Given the description of an element on the screen output the (x, y) to click on. 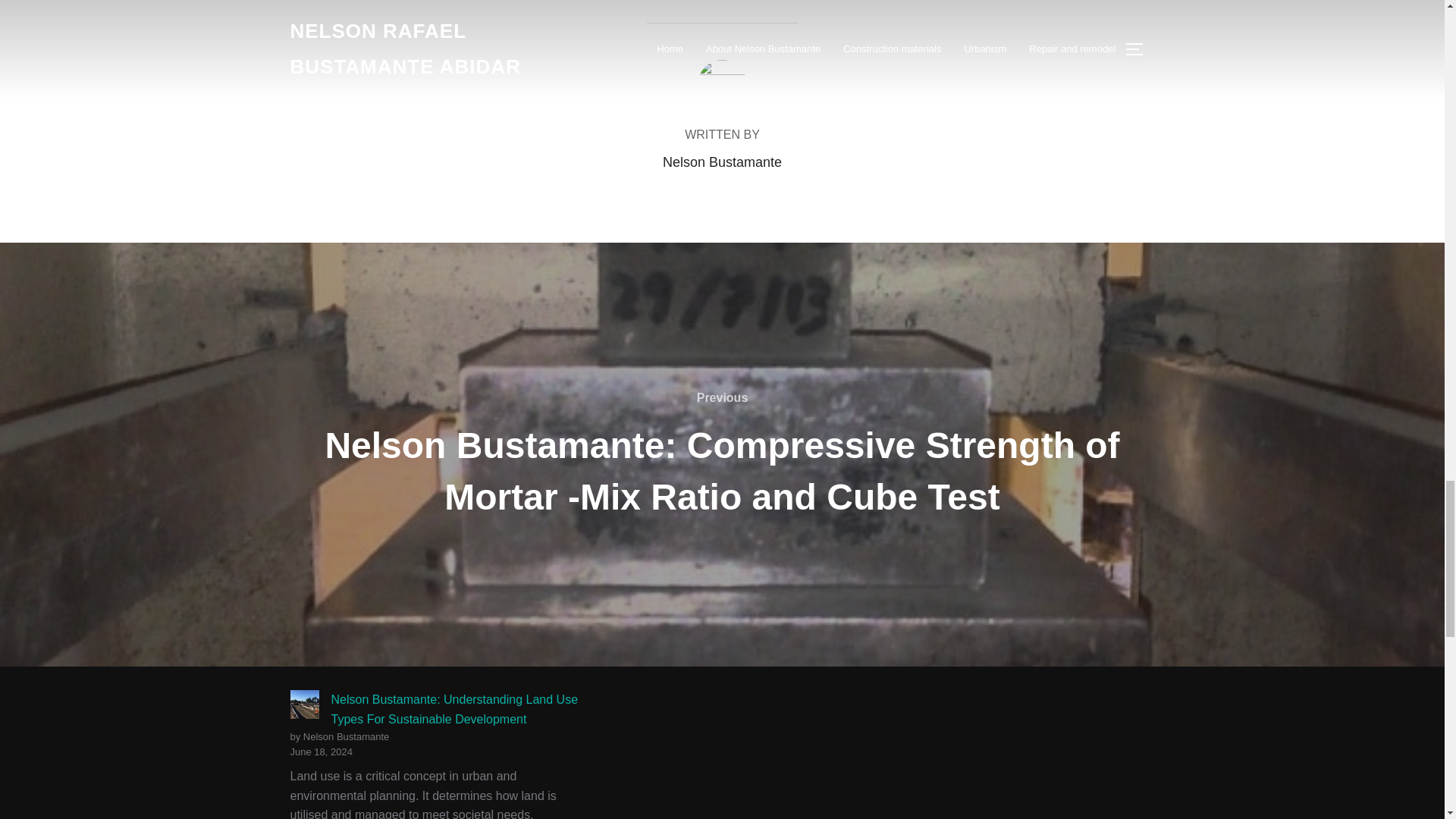
Posts by Nelson Bustamante (721, 161)
